Given the description of an element on the screen output the (x, y) to click on. 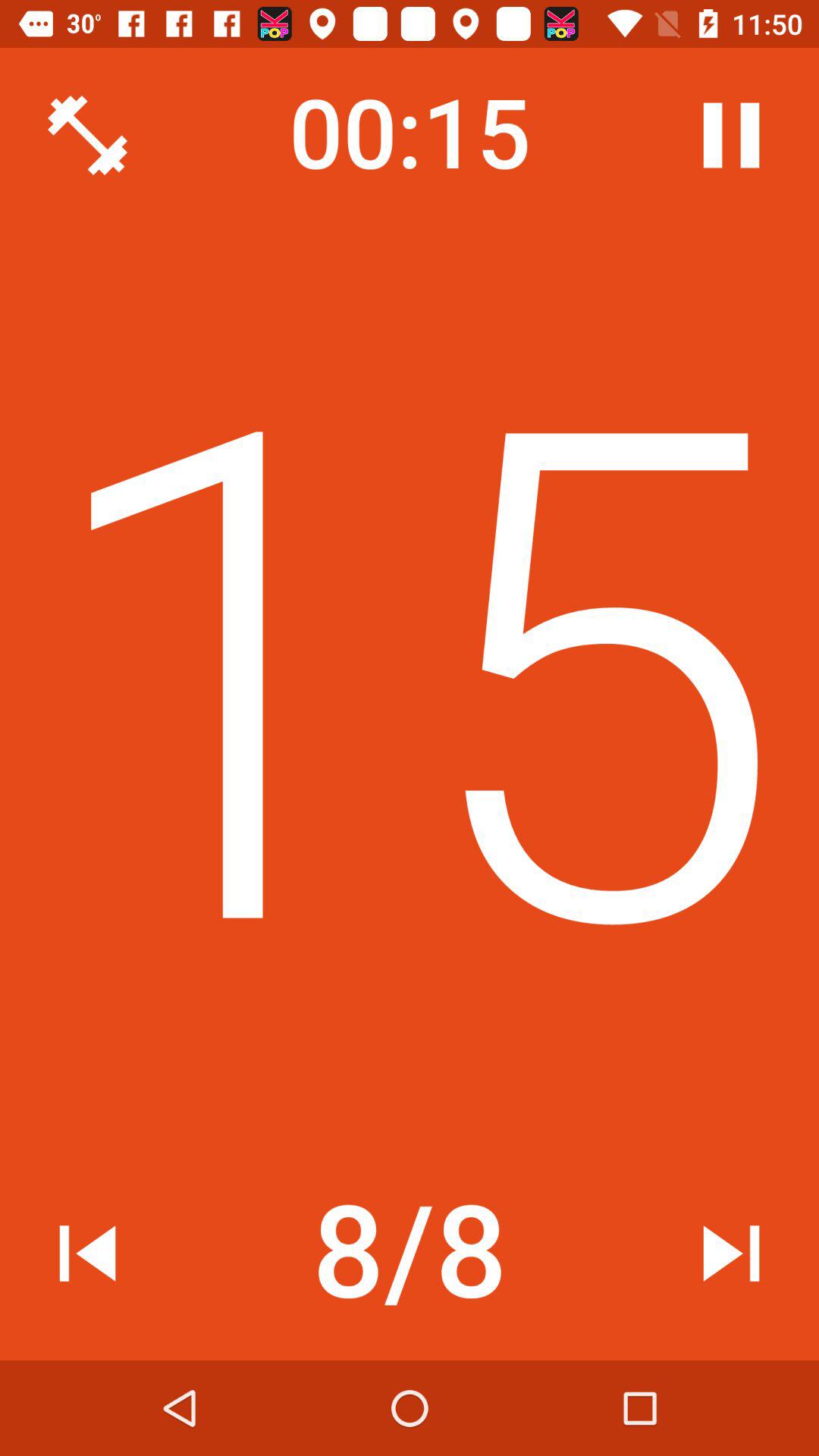
choose icon to the left of the 8/8 (87, 1253)
